Given the description of an element on the screen output the (x, y) to click on. 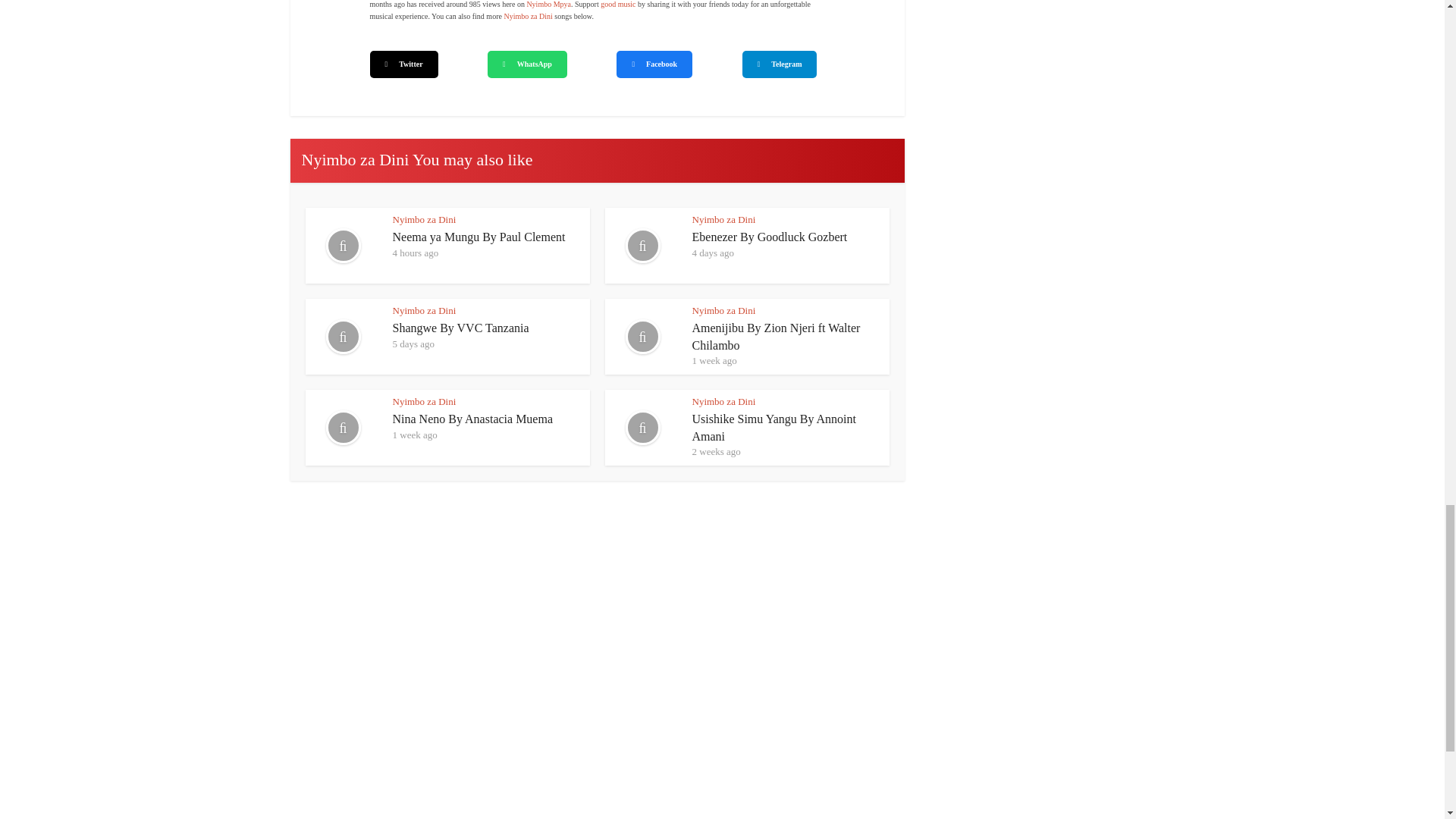
Ebenezer By Goodluck Gozbert (769, 236)
good music (616, 4)
Shangwe By VVC Tanzania 4 (342, 336)
Amenijibu By Zion Njeri ft Walter Chilambo (775, 336)
Facebook (654, 63)
Neema ya Mungu By Paul Clement (479, 236)
Nyimbo Mpya (547, 4)
Telegram (779, 63)
Nyimbo za Dini (527, 16)
WhatsApp (527, 63)
Neema ya Mungu By Paul Clement (479, 236)
Nyimbo za Dini (425, 219)
Twitter (403, 63)
Shangwe By VVC Tanzania (461, 327)
Amenijibu By Zion Njeri ft Walter Chilambo 5 (643, 336)
